Given the description of an element on the screen output the (x, y) to click on. 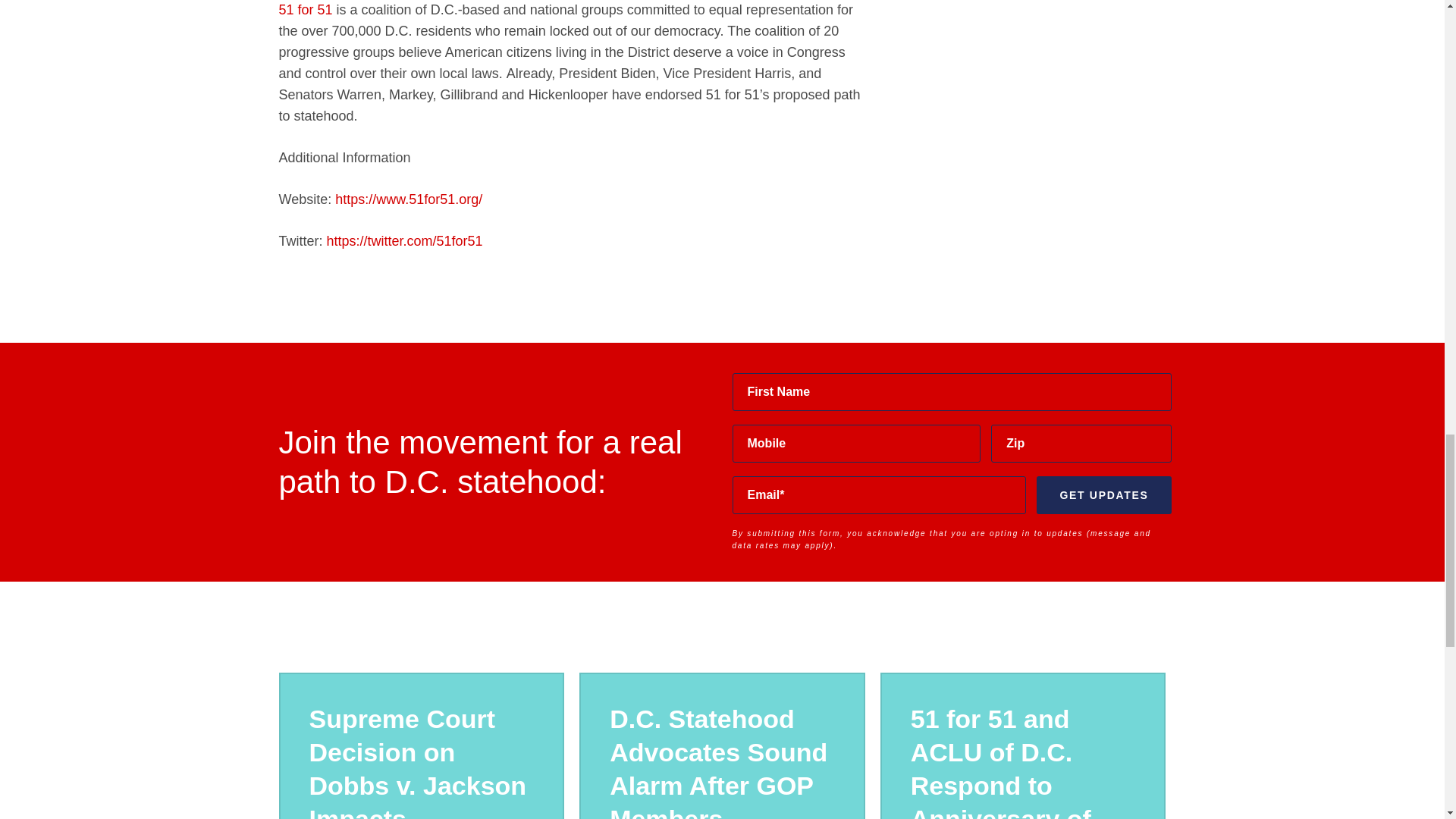
51 for 51 (306, 9)
GET UPDATES (1103, 494)
